Given the description of an element on the screen output the (x, y) to click on. 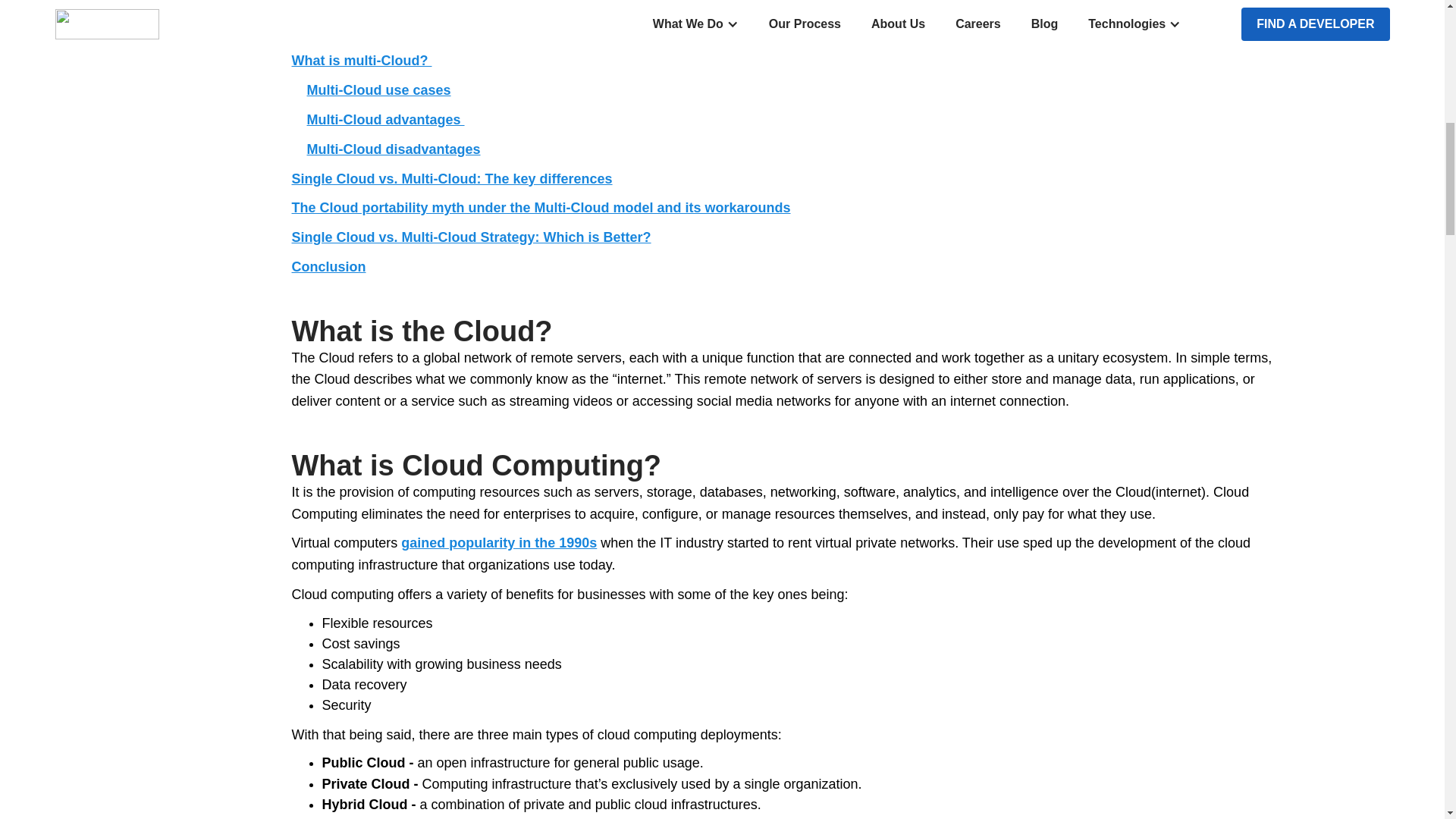
Multi-Cloud disadvantages (393, 149)
Conclusion (328, 266)
Single Cloud strategy advantages (412, 4)
What is multi-Cloud?  (360, 60)
Multi-Cloud advantages  (385, 119)
Single Cloud vs. Multi-Cloud Strategy: Which is Better? (470, 237)
Single Cloud vs. Multi-Cloud: The key differences (451, 178)
Single Cloud strategy disadvantages (421, 31)
Multi-Cloud use cases (379, 89)
